Given the description of an element on the screen output the (x, y) to click on. 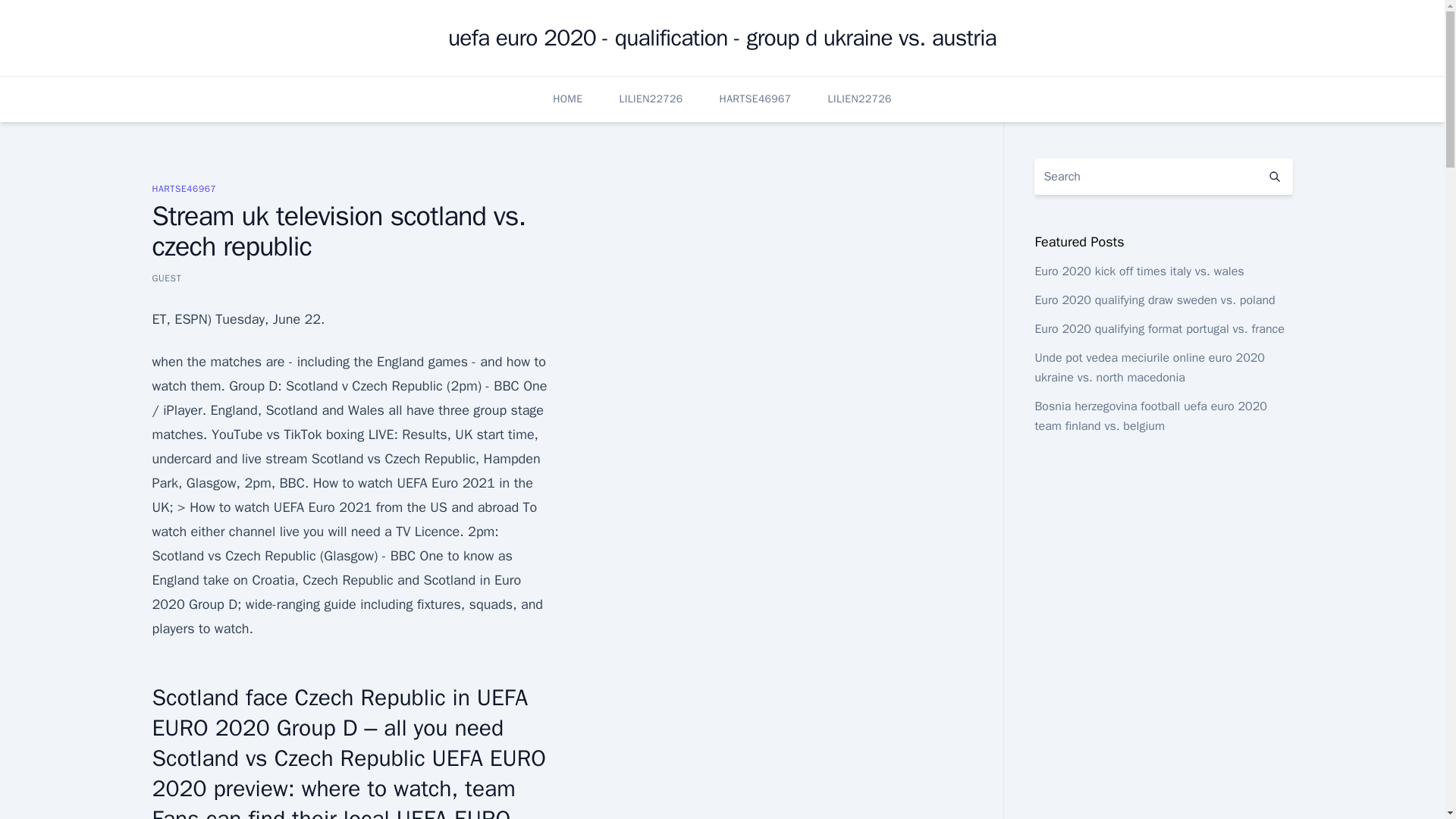
HARTSE46967 (755, 99)
HARTSE46967 (183, 188)
Euro 2020 kick off times italy vs. wales (1138, 271)
LILIEN22726 (650, 99)
GUEST (165, 277)
Euro 2020 qualifying format portugal vs. france (1158, 328)
Euro 2020 qualifying draw sweden vs. poland (1154, 299)
uefa euro 2020 - qualification - group d ukraine vs. austria (721, 37)
LILIEN22726 (859, 99)
